Given the description of an element on the screen output the (x, y) to click on. 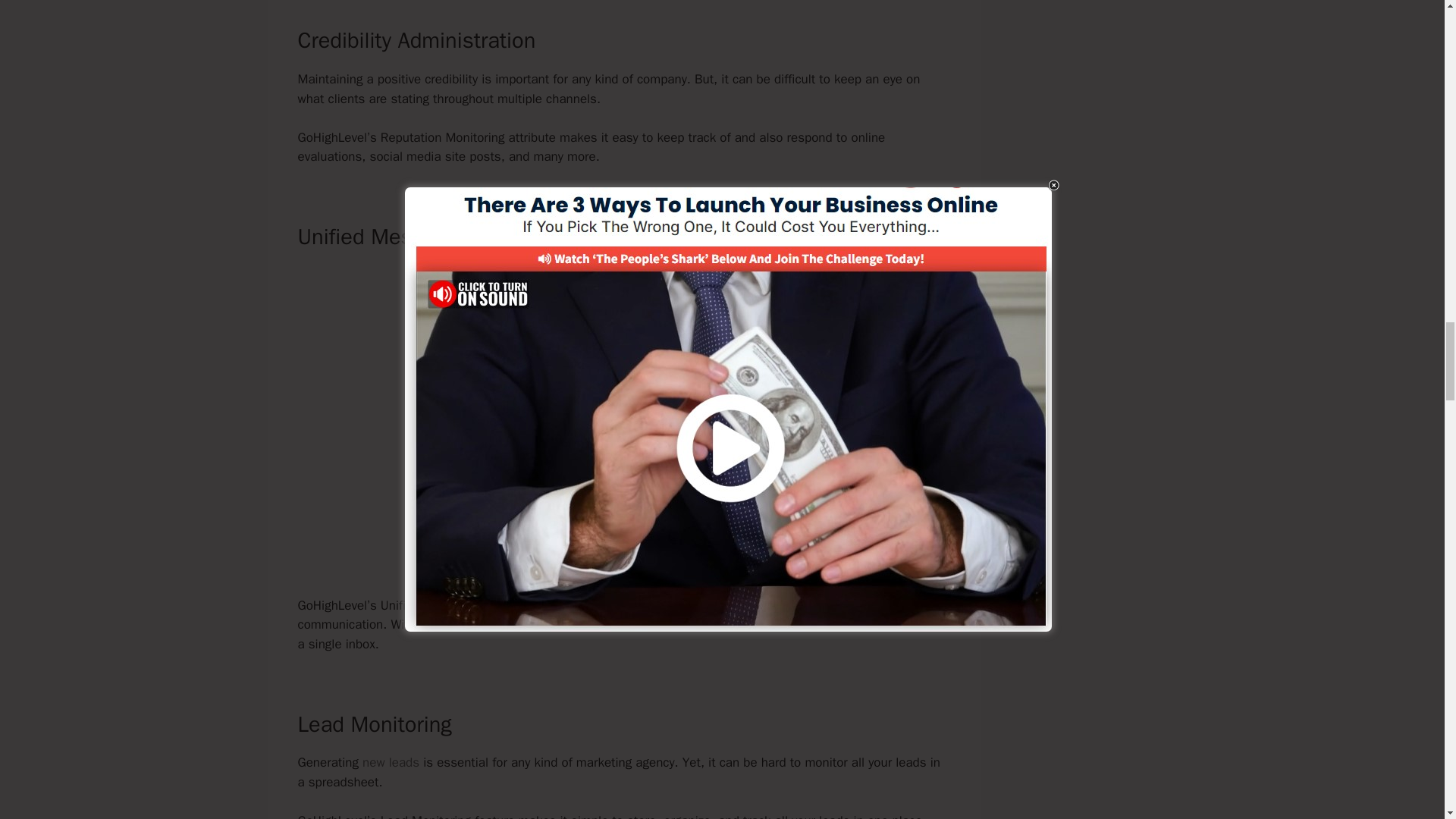
Claim Your GoHighLevel Free Account Today (623, 553)
new leads (390, 762)
YouTube video player (622, 385)
